Given the description of an element on the screen output the (x, y) to click on. 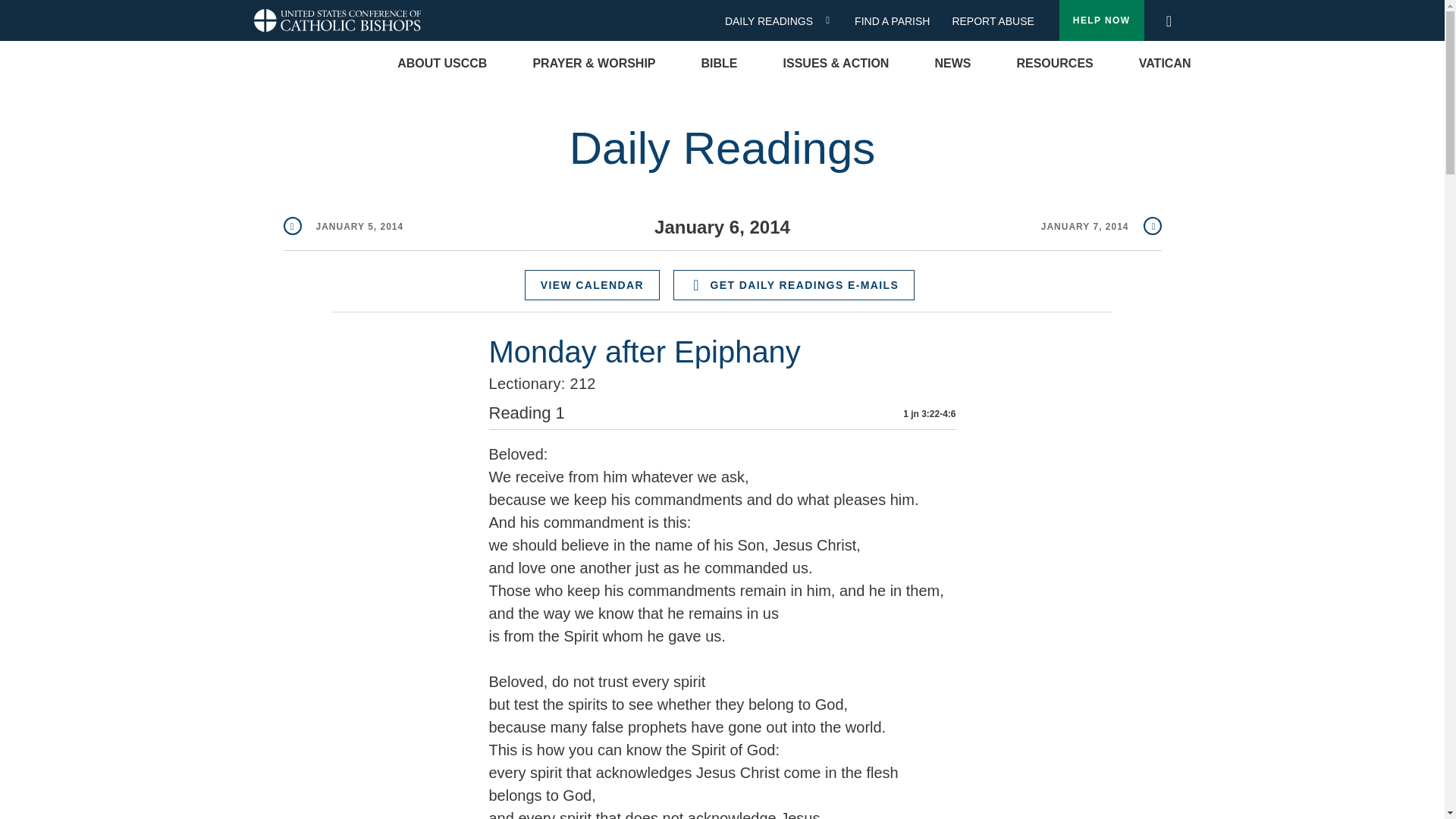
DAILY READINGS CALENDAR (832, 20)
Search (1168, 16)
FIND A PARISH (897, 20)
Link list for Vatican website (1165, 62)
HELP NOW (1101, 20)
Go (1173, 21)
REPORT ABUSE (992, 20)
DAILY READINGS (774, 20)
